Given the description of an element on the screen output the (x, y) to click on. 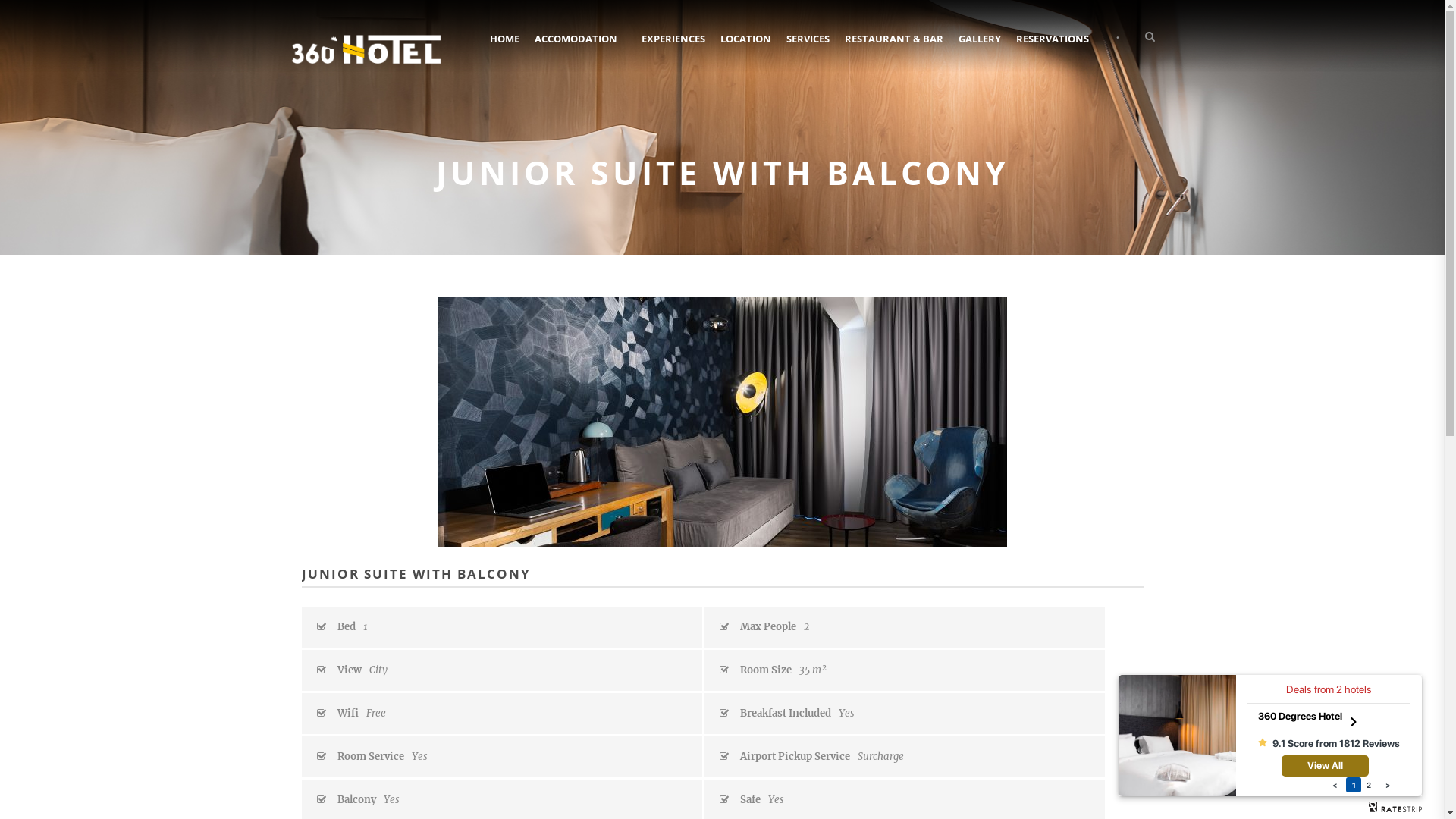
RESTAURANT & BAR Element type: text (893, 47)
RESERVATIONS Element type: text (1056, 47)
LOCATION Element type: text (745, 47)
ACCOMODATION Element type: text (579, 47)
HOME Element type: text (508, 47)
SERVICES Element type: text (807, 47)
GALLERY Element type: text (979, 47)
EXPERIENCES Element type: text (672, 47)
